Given the description of an element on the screen output the (x, y) to click on. 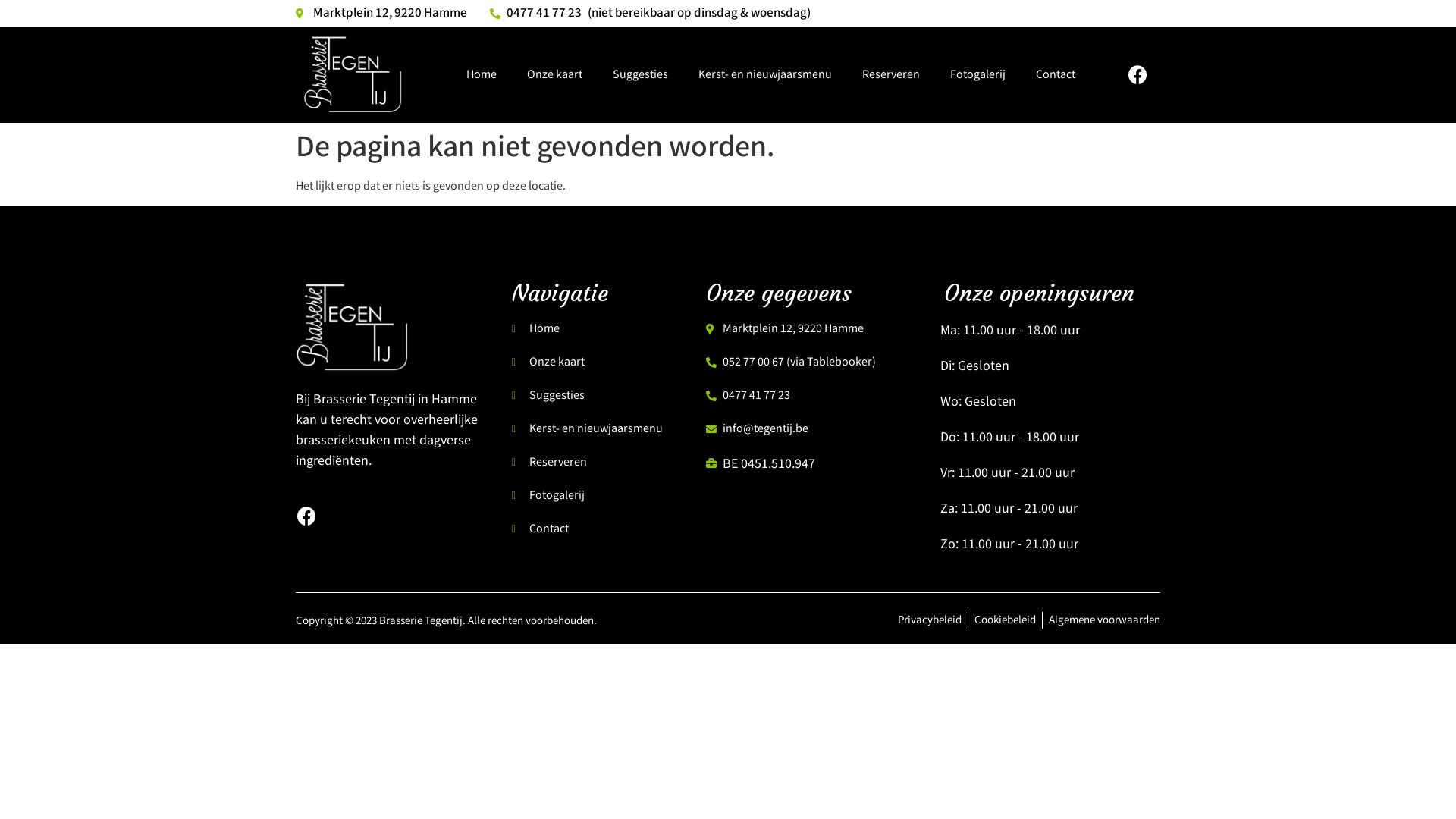
Cookiebeleid Element type: text (1004, 620)
052 77 00 67 (via Tablebooker) Element type: text (825, 362)
Onze kaart Element type: text (554, 74)
Suggesties Element type: text (640, 74)
Onze kaart Element type: text (608, 362)
0477 41 77 23 Element type: text (825, 395)
info@tegentij.be Element type: text (825, 429)
Marktplein 12, 9220 Hamme Element type: text (381, 13)
Suggesties Element type: text (608, 395)
Reserveren Element type: text (891, 74)
Algemene voorwaarden Element type: text (1104, 620)
Contact Element type: text (608, 529)
Home Element type: text (608, 329)
Fotogalerij Element type: text (608, 495)
Kerst- en nieuwjaarsmenu Element type: text (765, 74)
Privacybeleid Element type: text (929, 620)
Reserveren Element type: text (608, 462)
Home Element type: text (481, 74)
Kerst- en nieuwjaarsmenu Element type: text (608, 429)
Fotogalerij Element type: text (977, 74)
0477 41 77 23 Element type: text (535, 13)
Marktplein 12, 9220 Hamme Element type: text (825, 329)
Contact Element type: text (1055, 74)
